Given the description of an element on the screen output the (x, y) to click on. 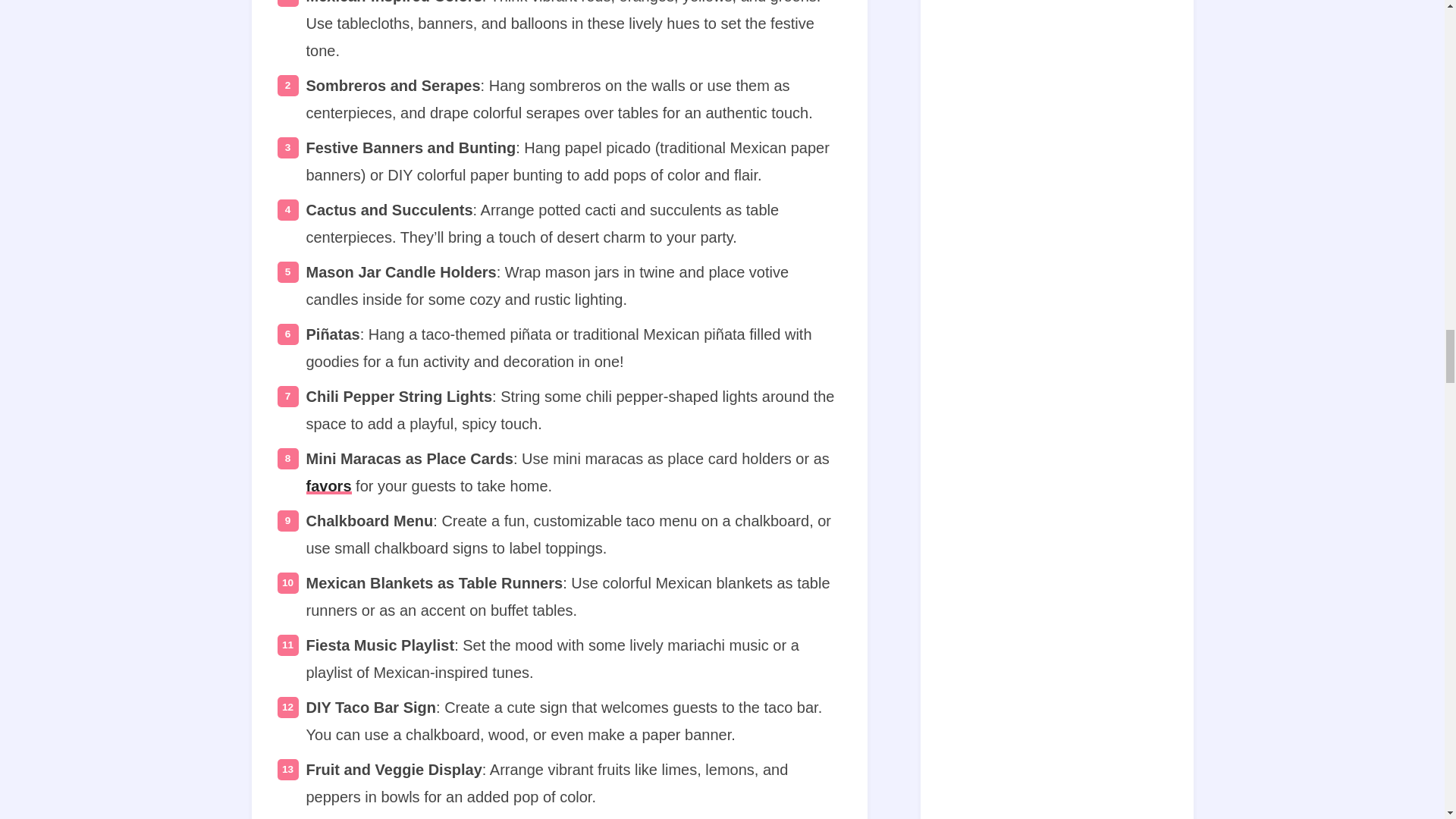
favors (328, 485)
